Given the description of an element on the screen output the (x, y) to click on. 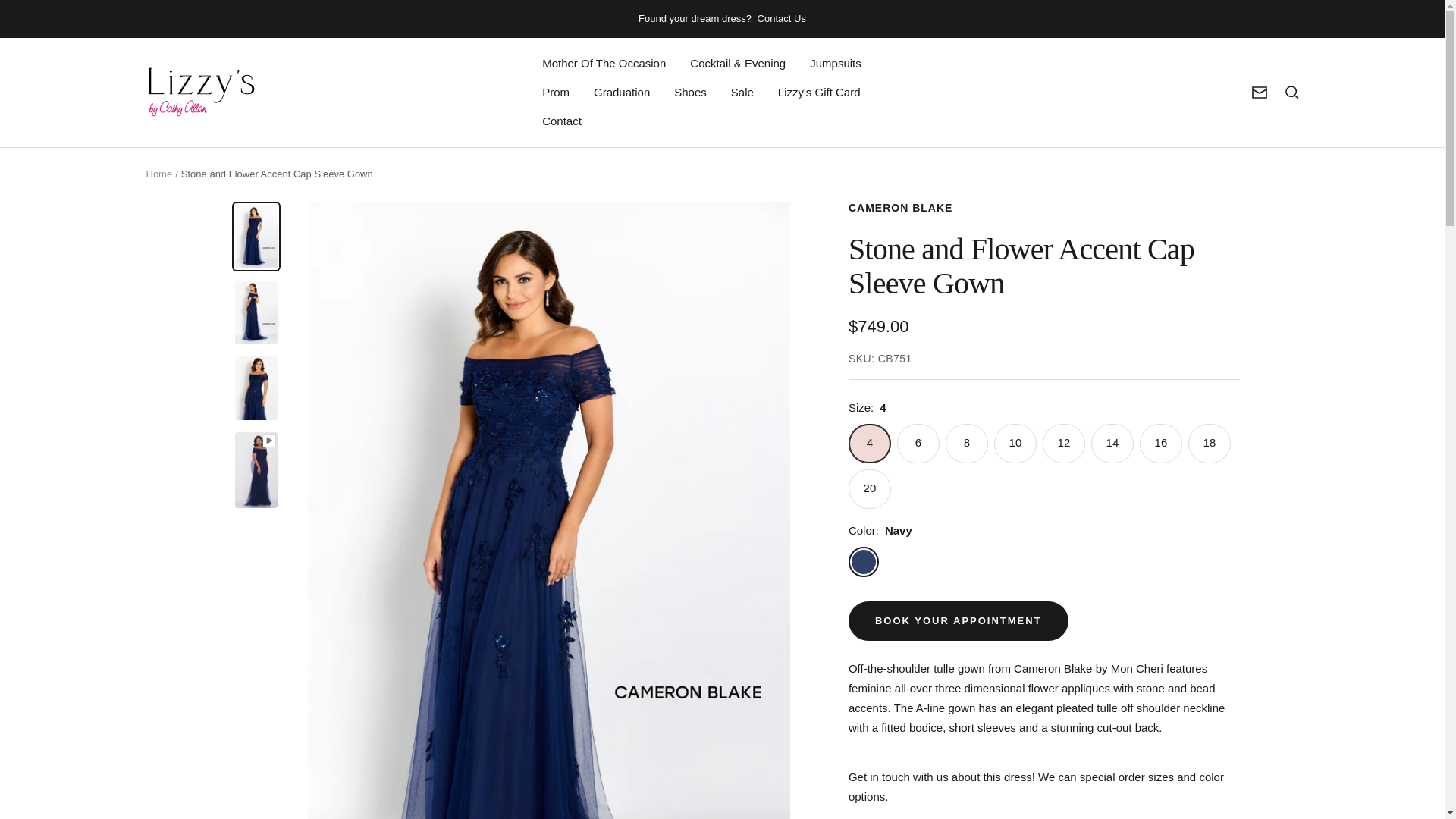
BOOK YOUR APPOINTMENT (958, 620)
Home (158, 173)
Shoes (690, 92)
Prom (555, 92)
Lizzy's Gift Card (818, 92)
Contact Us (781, 18)
Graduation (621, 92)
Newsletter (1259, 92)
Jumpsuits (835, 63)
Mother Of The Occasion (603, 63)
